Given the description of an element on the screen output the (x, y) to click on. 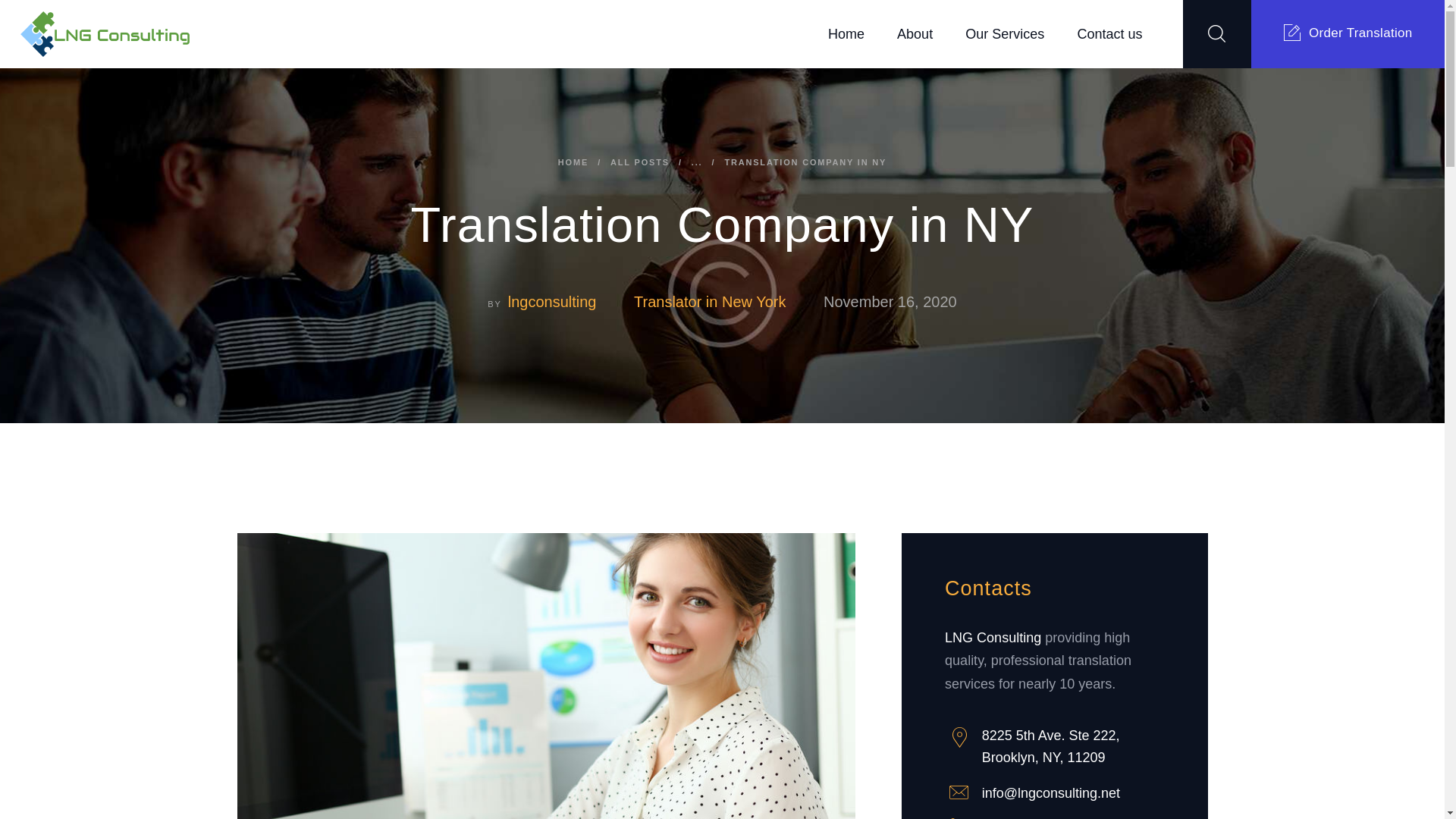
November 16, 2020 (890, 301)
About (914, 34)
Translator in New York (709, 301)
Contact us (1109, 34)
HOME (572, 162)
lngconsulting (570, 301)
ALL POSTS (639, 162)
Home (845, 34)
Our Services (1005, 34)
